Given the description of an element on the screen output the (x, y) to click on. 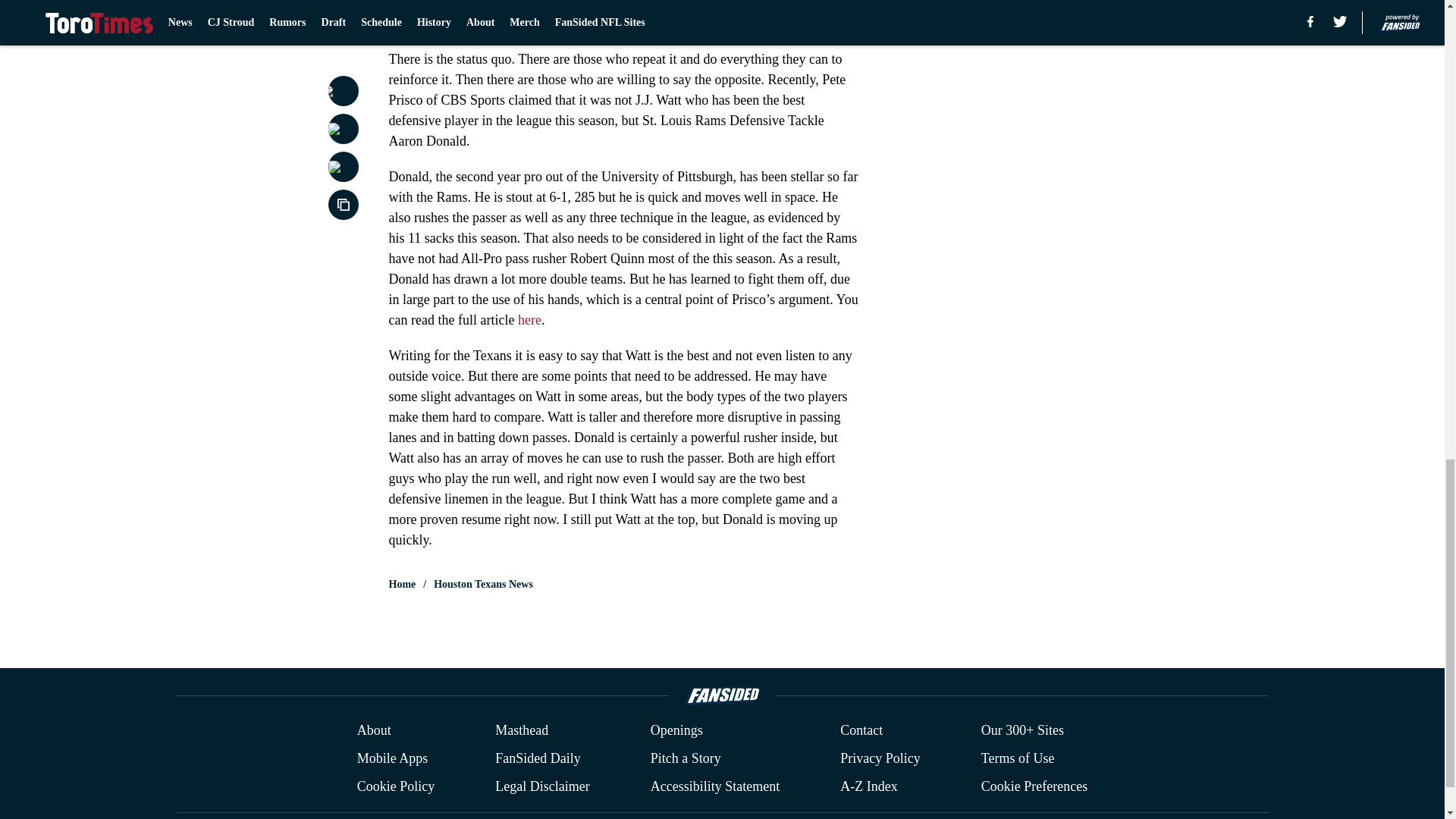
Accessibility Statement (714, 786)
Pitch a Story (685, 758)
Privacy Policy (880, 758)
About (373, 730)
A-Z Index (868, 786)
Masthead (521, 730)
FanSided Daily (537, 758)
here (529, 319)
Cookie Policy (395, 786)
Openings (676, 730)
Home (401, 584)
Mobile Apps (392, 758)
Houston Texans News (482, 584)
Legal Disclaimer (542, 786)
Terms of Use (1017, 758)
